Given the description of an element on the screen output the (x, y) to click on. 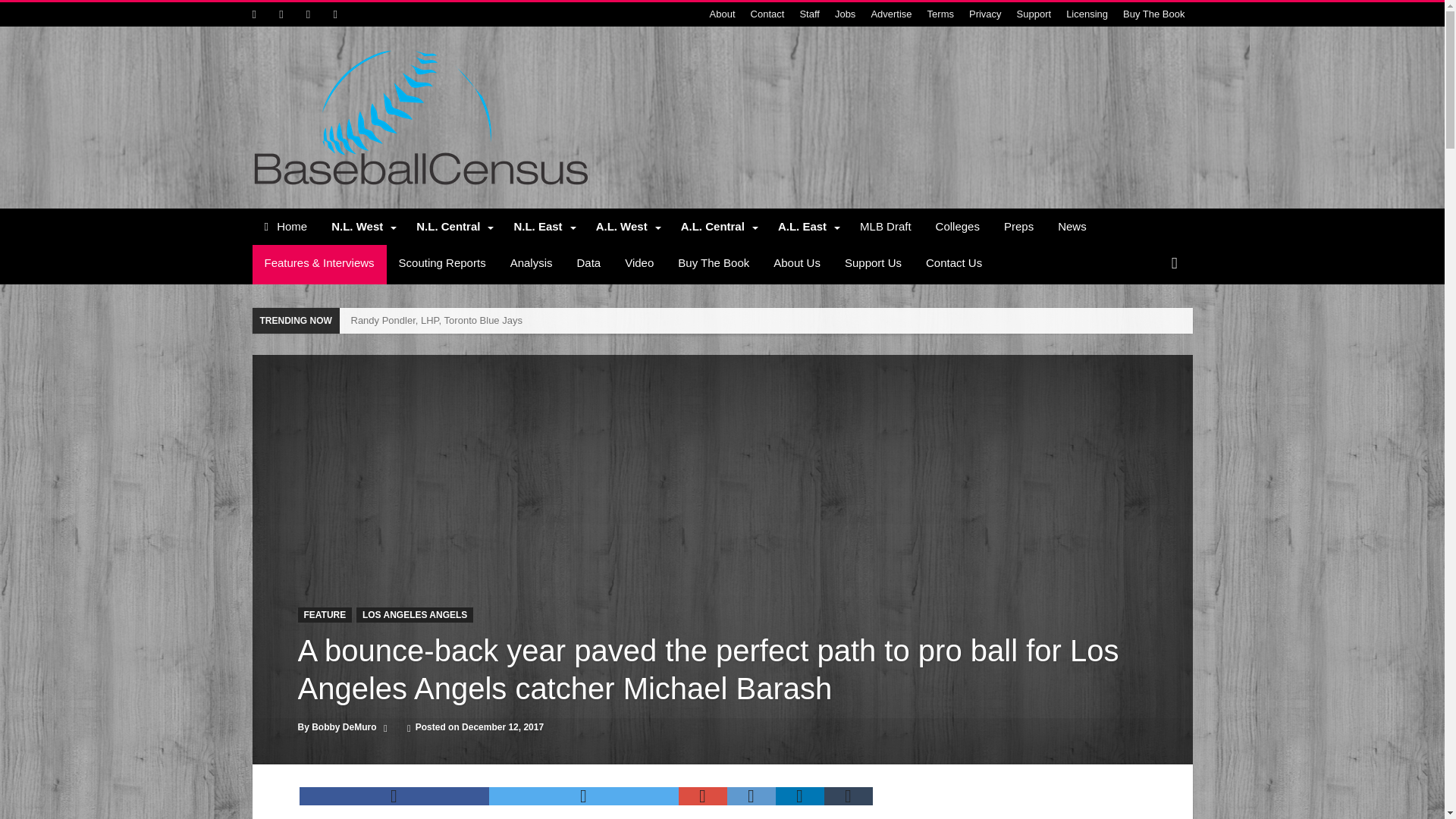
Jobs (845, 14)
Privacy (984, 14)
Posts by Bobby DeMuro (343, 727)
Buy The Book (1153, 14)
Home (284, 226)
Terms (940, 14)
About (721, 14)
Support (1034, 14)
Staff (809, 14)
N.L. East (541, 226)
